Given the description of an element on the screen output the (x, y) to click on. 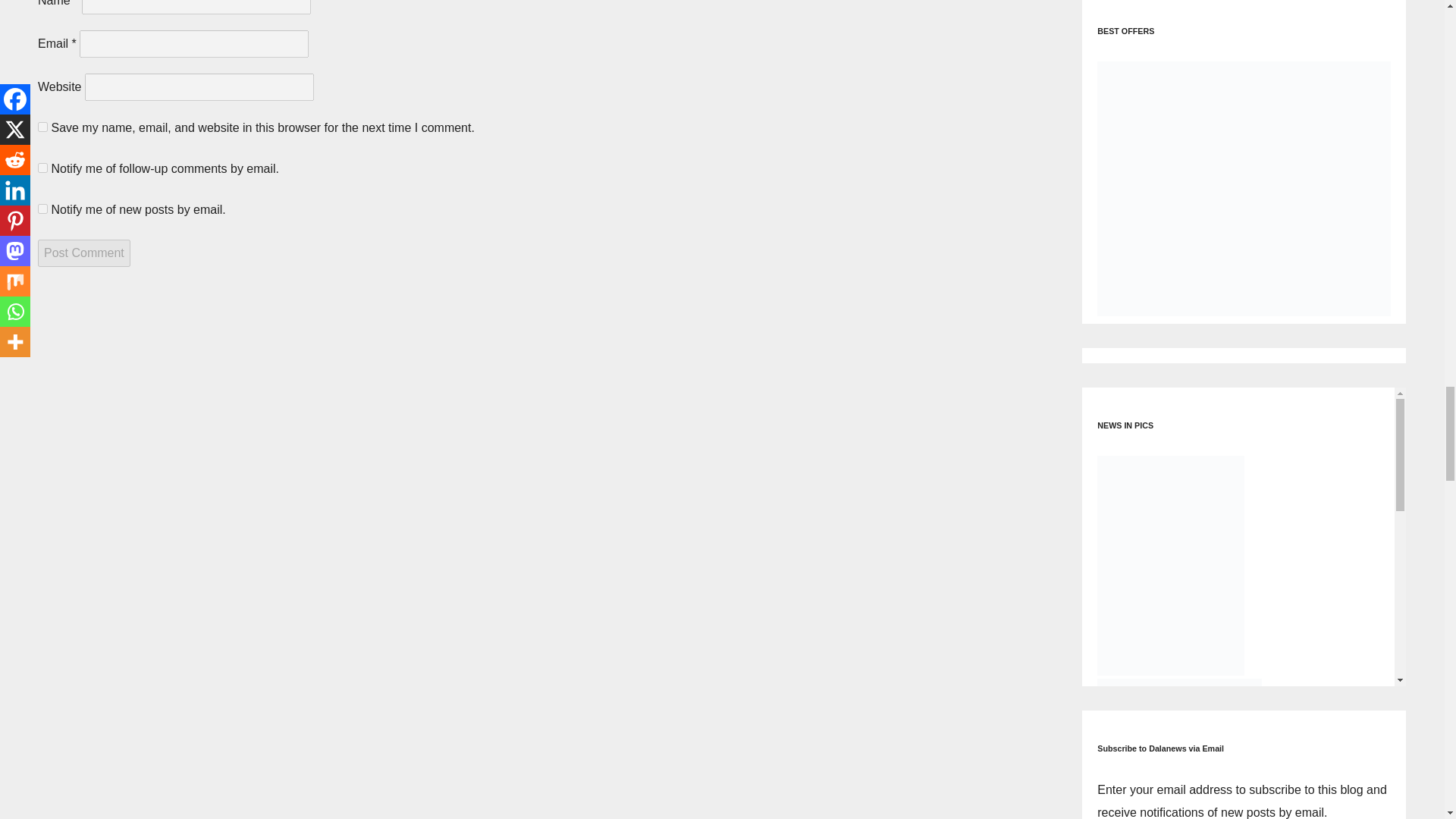
subscribe (42, 208)
yes (42, 126)
subscribe (42, 167)
Post Comment (84, 252)
